Given the description of an element on the screen output the (x, y) to click on. 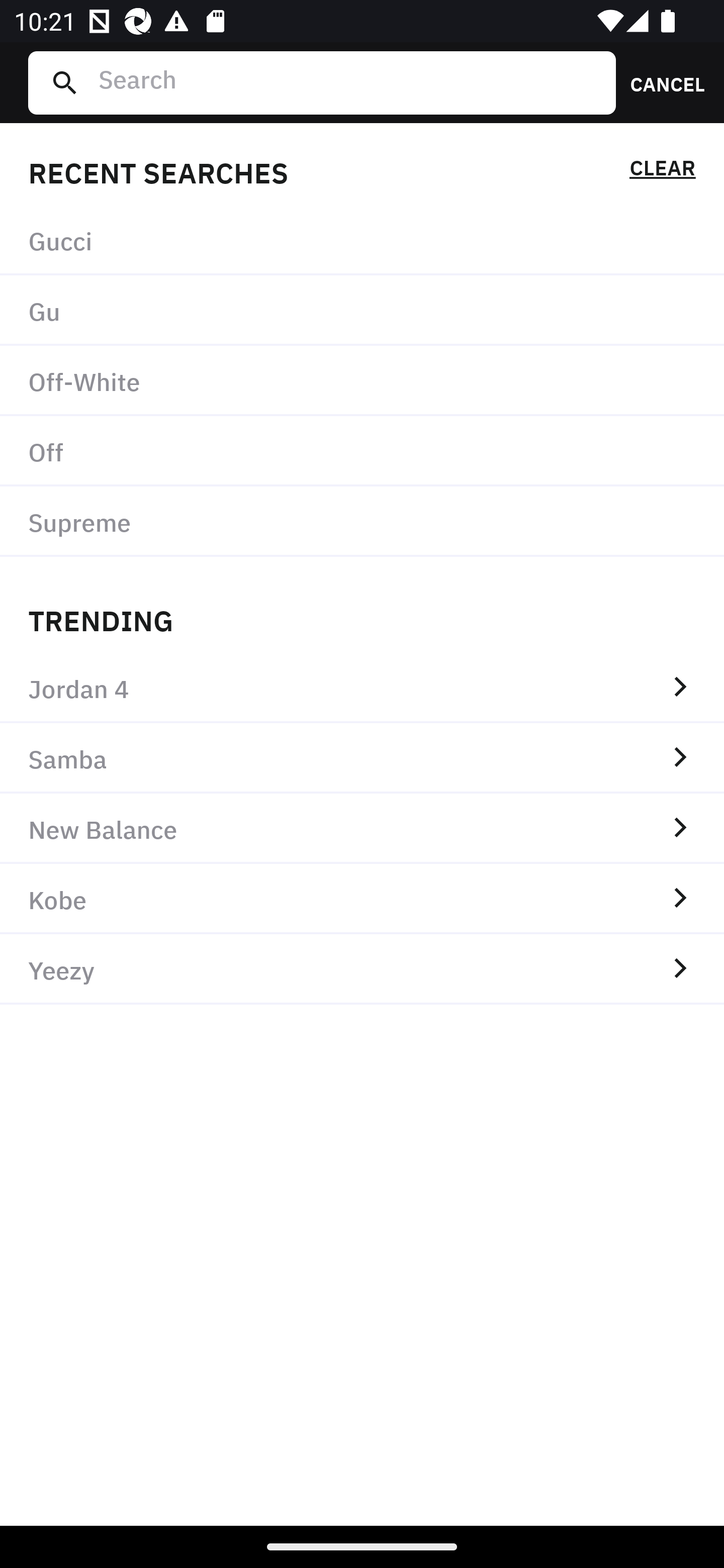
CANCEL (660, 82)
Search (349, 82)
CLEAR (662, 170)
Gucci (362, 240)
Gu (362, 310)
Off-White (362, 380)
Off (362, 450)
Supreme (362, 521)
Jordan 4  (362, 687)
Samba  (362, 757)
New Balance  (362, 828)
Kobe  (362, 898)
Yeezy  (362, 969)
